Given the description of an element on the screen output the (x, y) to click on. 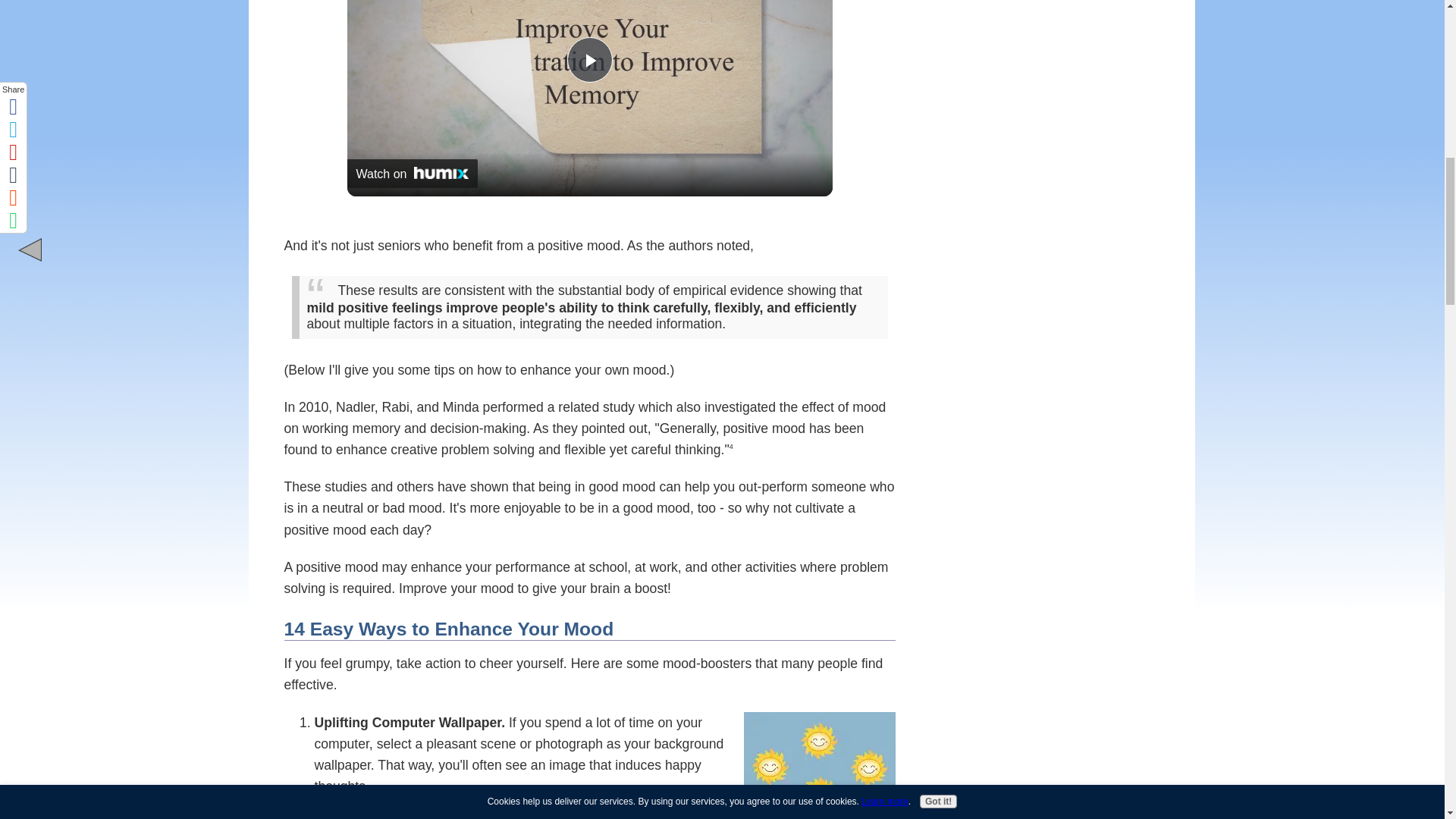
Free Smiling Suns Wallpaper (818, 765)
Play Video (589, 59)
